Given the description of an element on the screen output the (x, y) to click on. 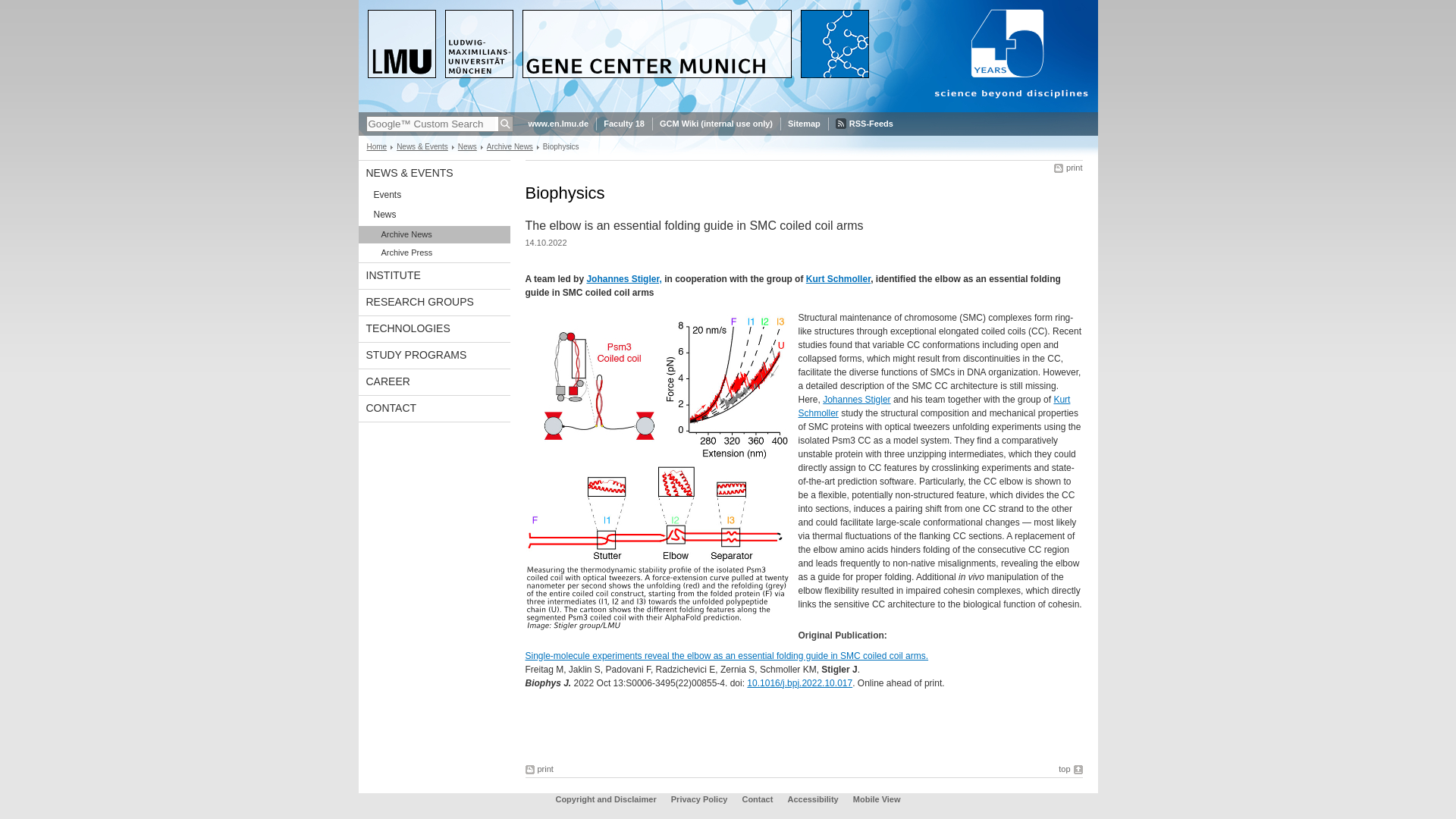
Johannes Stigler (855, 398)
Archive News (433, 234)
top (1069, 768)
print (1067, 167)
Kurt Schmoller (838, 278)
Archive News (509, 146)
Faculty 18 (624, 123)
print (1067, 167)
STUDY PROGRAMS (433, 355)
